Given the description of an element on the screen output the (x, y) to click on. 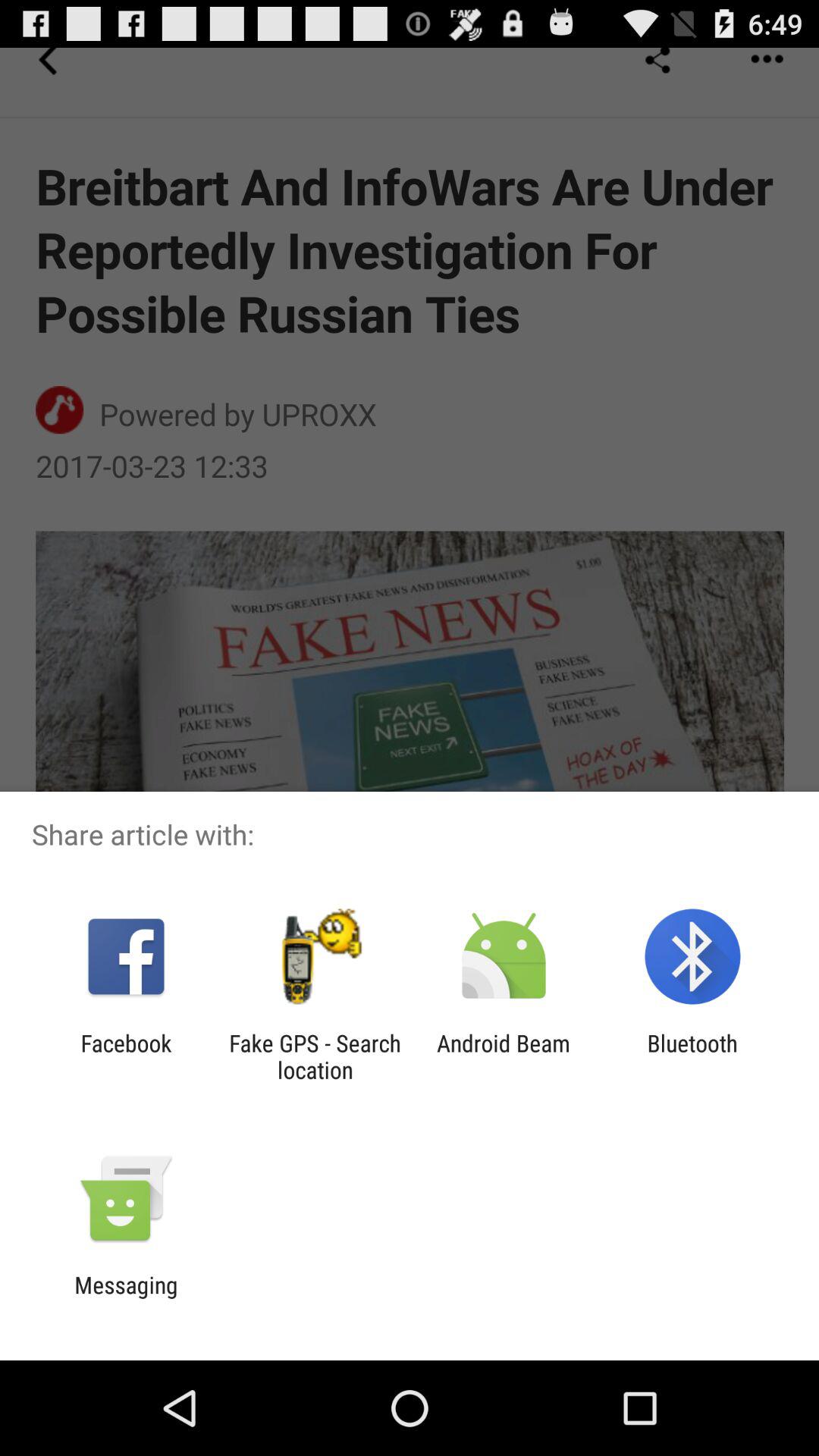
select item to the left of android beam icon (314, 1056)
